Given the description of an element on the screen output the (x, y) to click on. 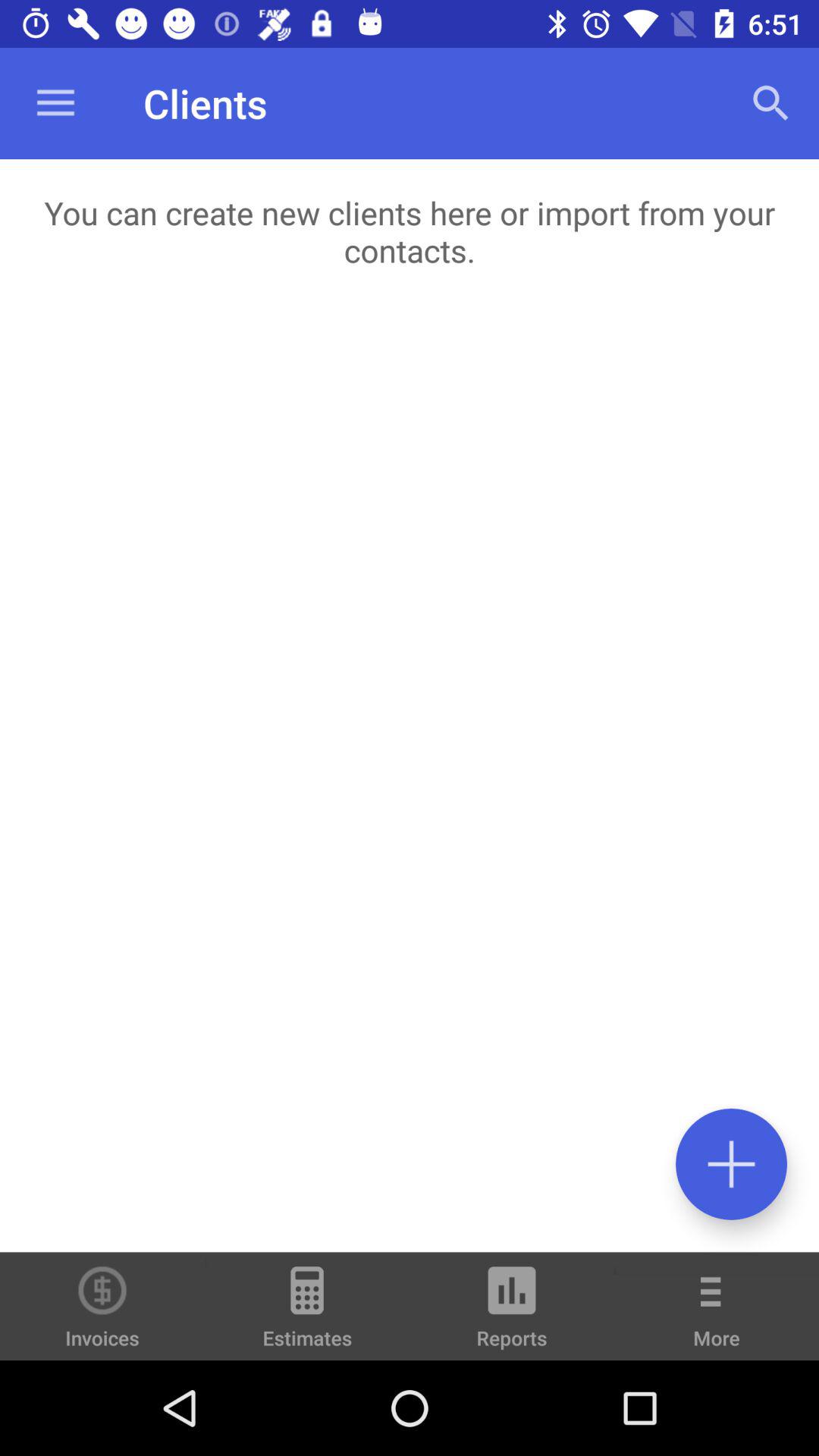
make a new file (731, 1163)
